Given the description of an element on the screen output the (x, y) to click on. 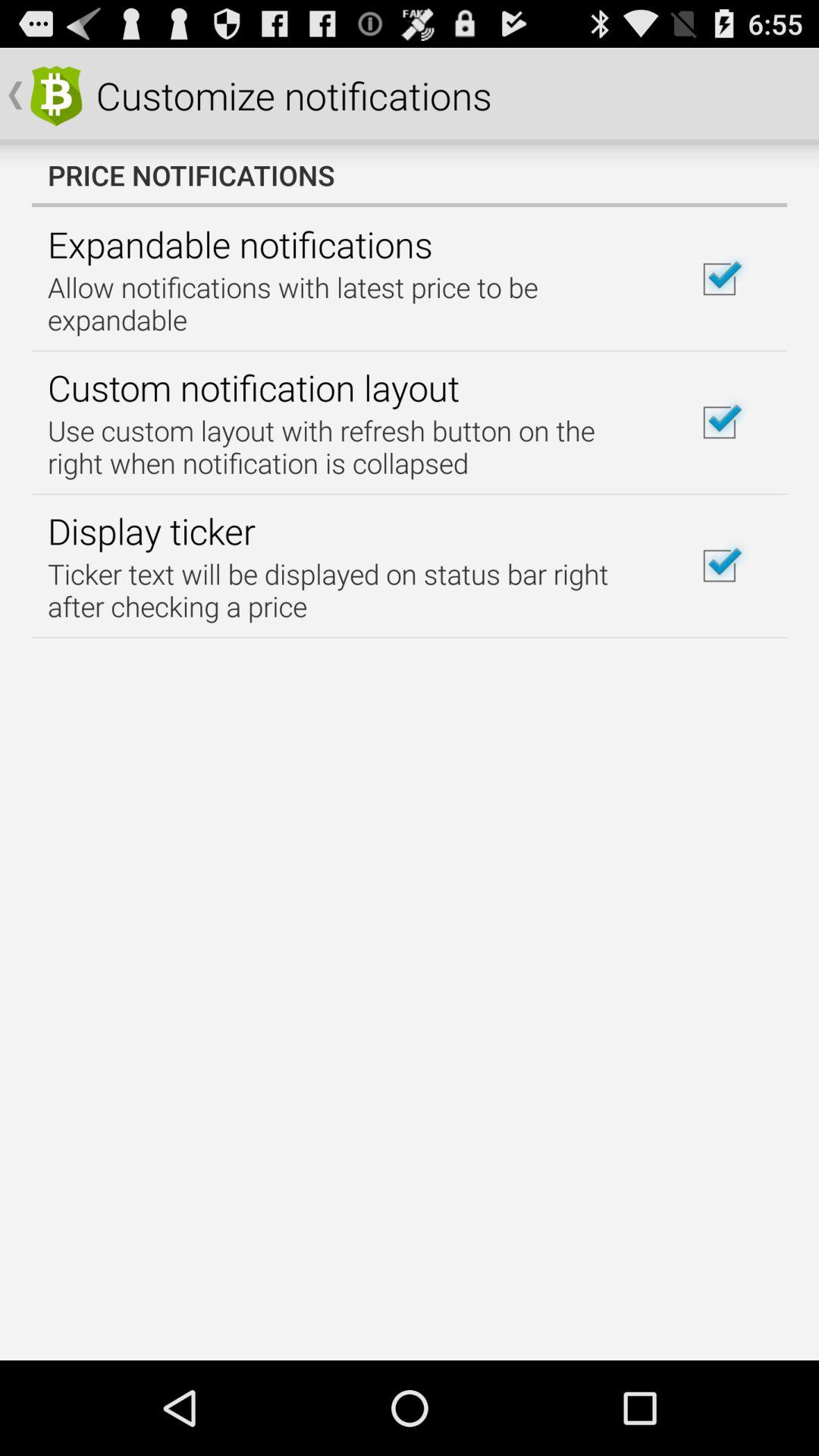
swipe to the allow notifications with item (351, 303)
